Given the description of an element on the screen output the (x, y) to click on. 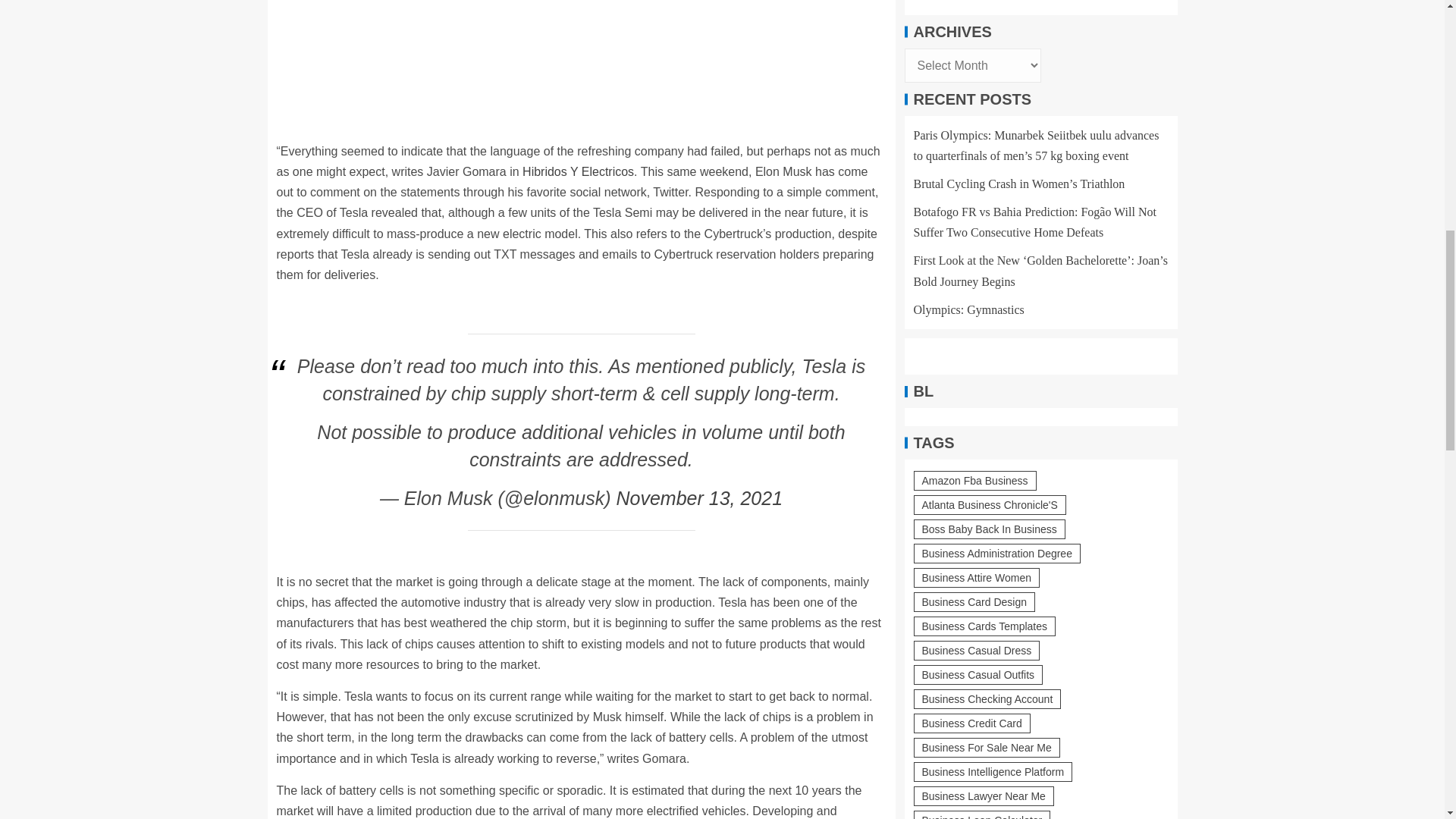
November 13, 2021 (699, 497)
Hibridos Y Electricos (577, 171)
